Given the description of an element on the screen output the (x, y) to click on. 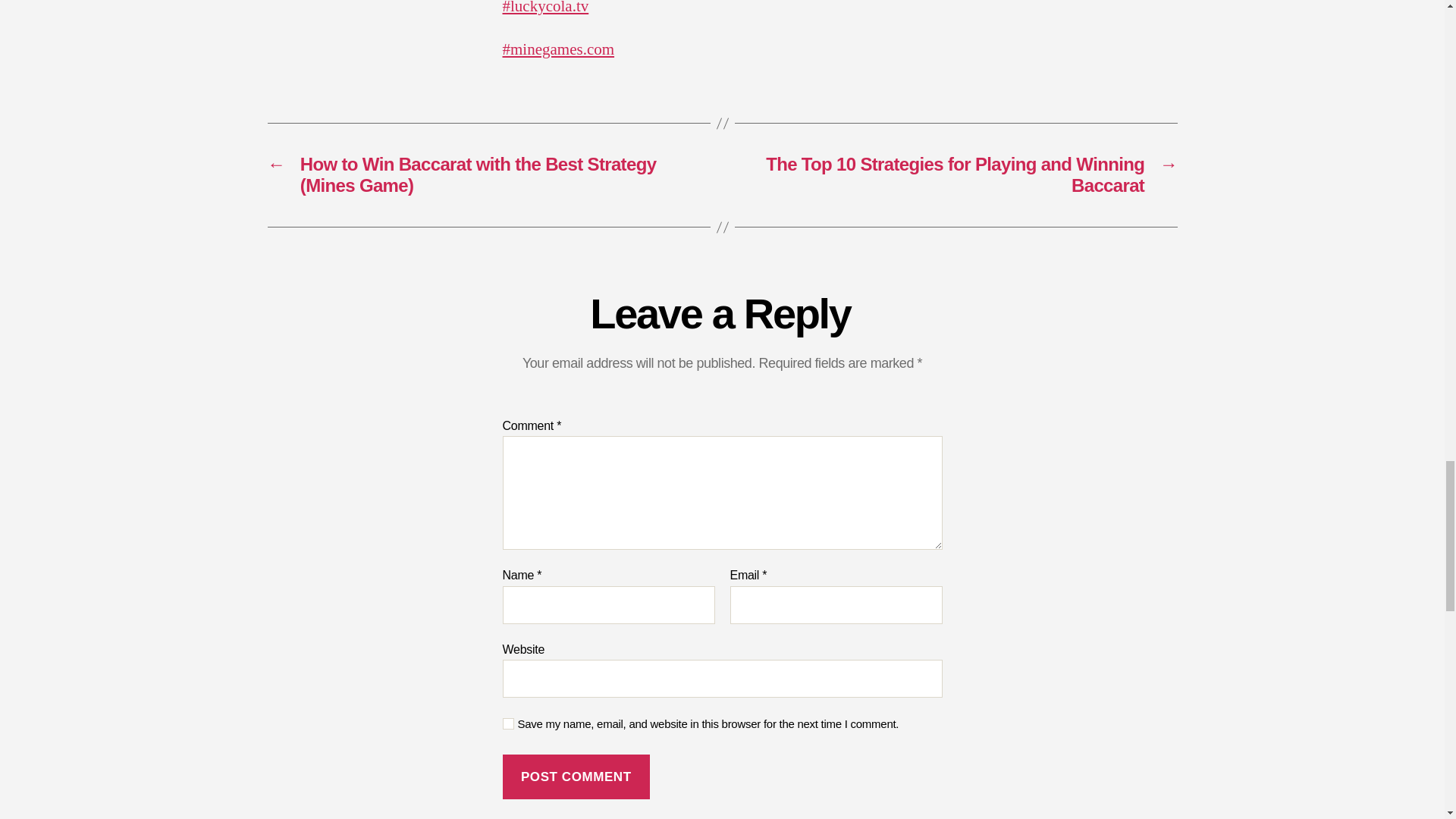
Post Comment (575, 776)
Post Comment (575, 776)
yes (507, 723)
